Given the description of an element on the screen output the (x, y) to click on. 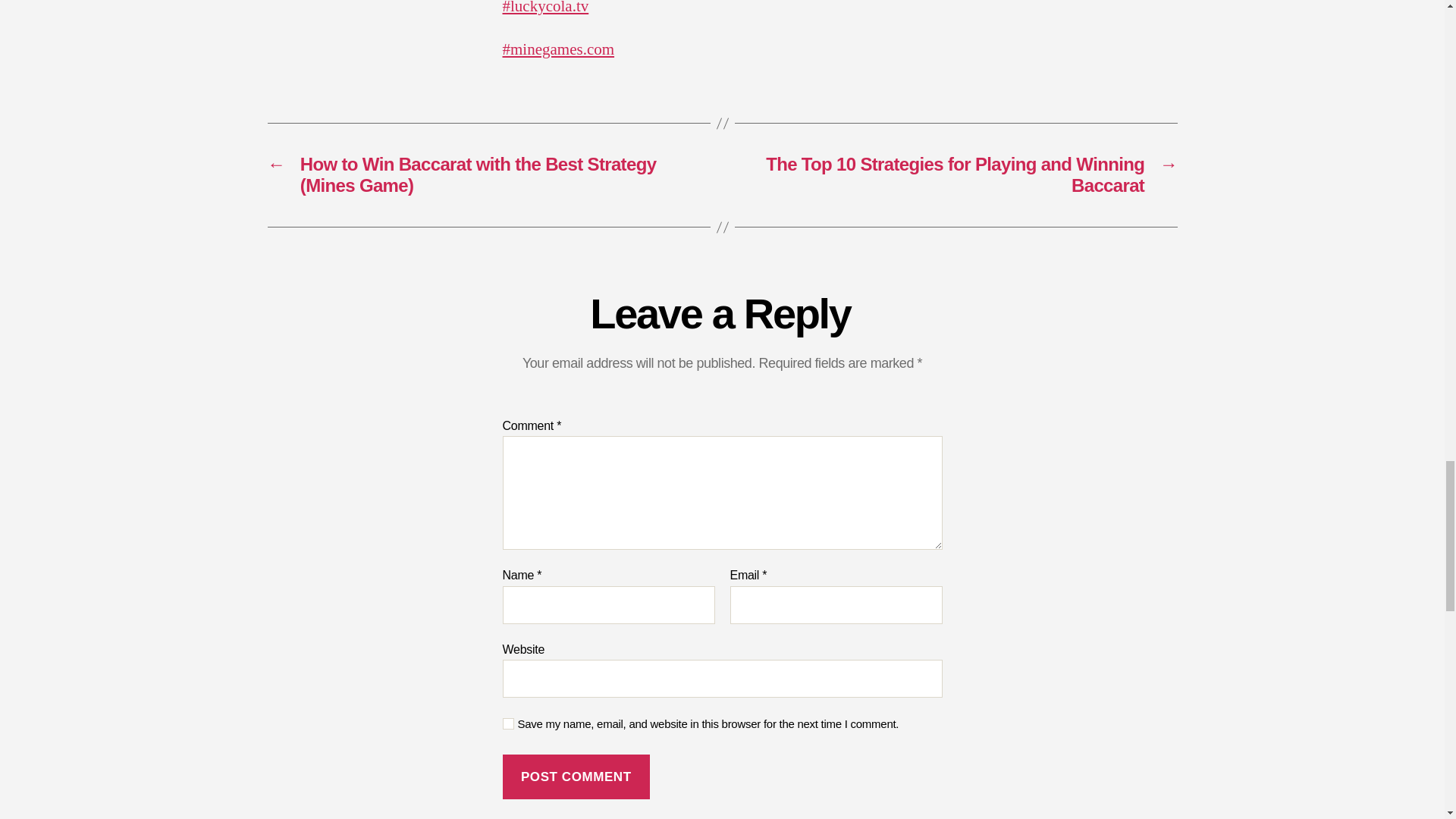
Post Comment (575, 776)
Post Comment (575, 776)
yes (507, 723)
